Given the description of an element on the screen output the (x, y) to click on. 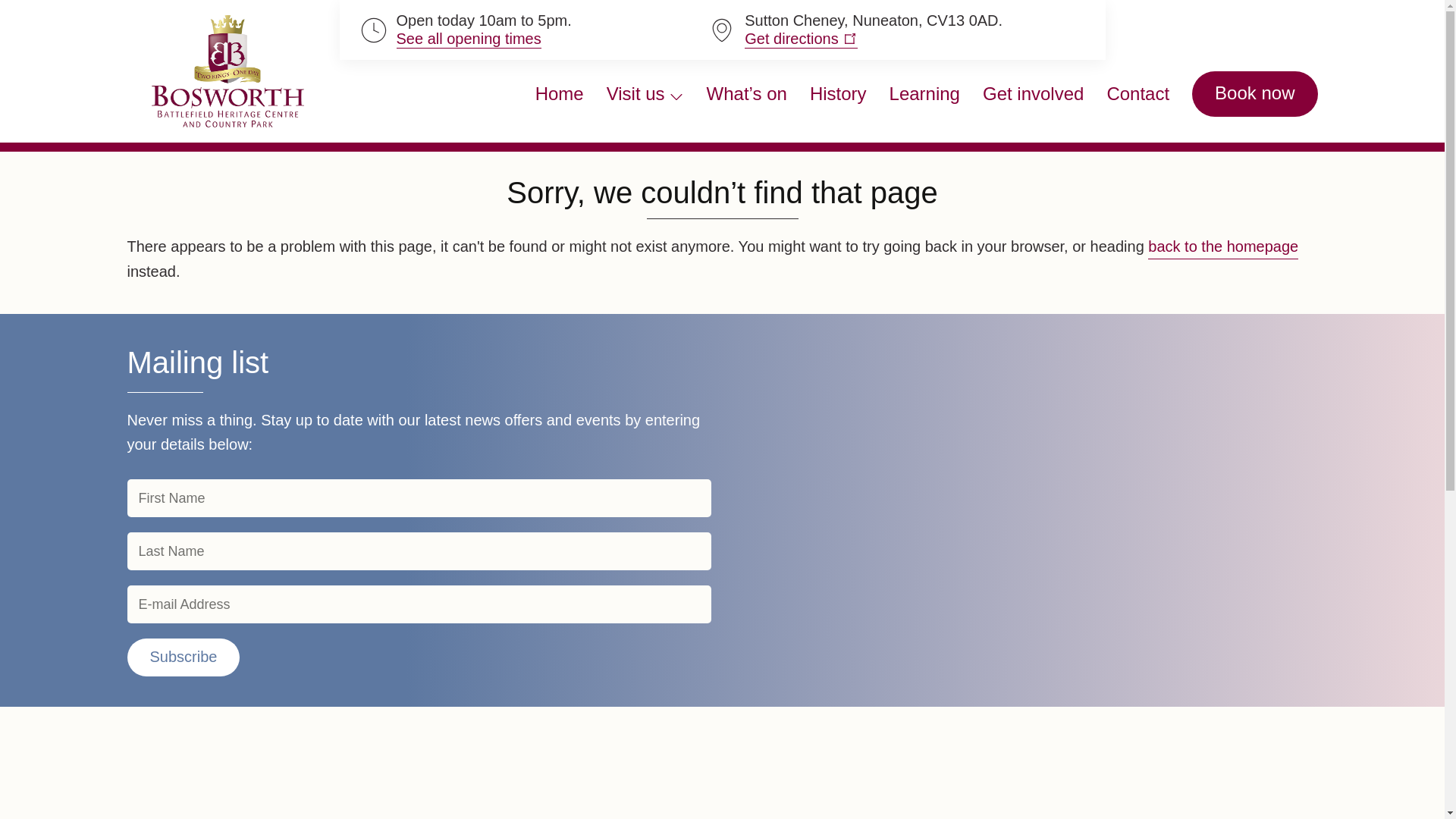
Visit us (645, 94)
Subscribe (184, 657)
Get directions (800, 38)
Home (559, 94)
Skip to content (33, 30)
See all opening times (468, 38)
History (837, 94)
Learning (924, 94)
back to the homepage (1223, 246)
Book now (1254, 94)
Contact (1137, 94)
Get involved (1032, 94)
